Given the description of an element on the screen output the (x, y) to click on. 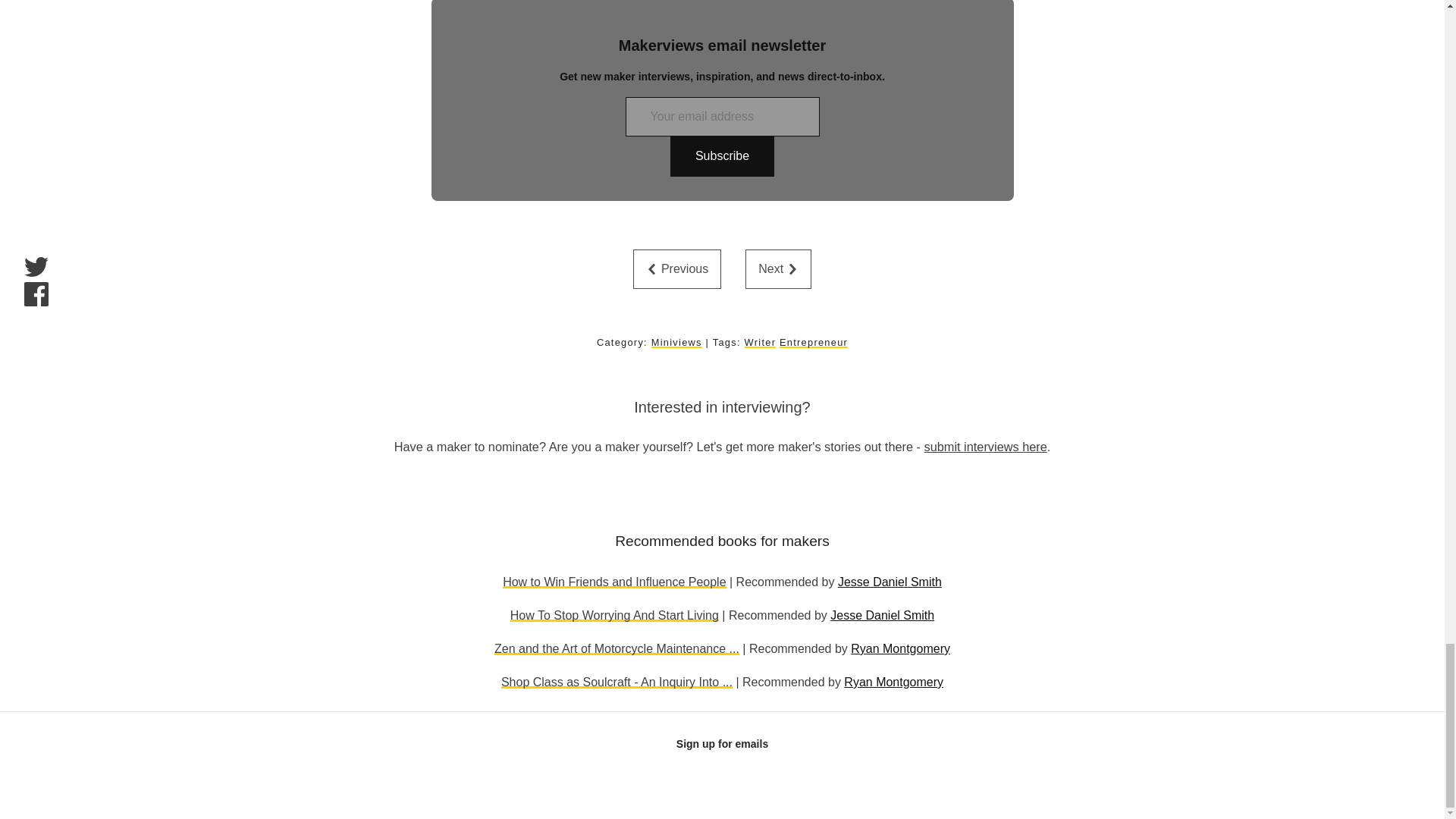
How to Win Friends and Influence People, by Dale Carnegie (613, 581)
NBC's Making It Interview...with maker Amber Kemp-Gertsel (676, 269)
Subscribe (721, 156)
How To Stop Worrying And Start Living, by Dale Carnegie (615, 615)
NBC's Making It Khiem Nguyen Woodworker Interview (777, 269)
